Given the description of an element on the screen output the (x, y) to click on. 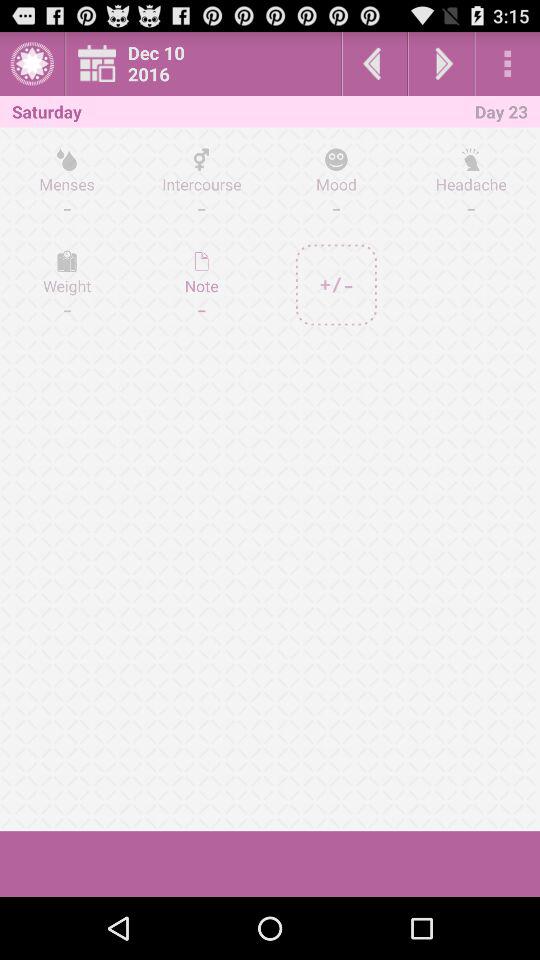
launch intercourse
_ (201, 183)
